Given the description of an element on the screen output the (x, y) to click on. 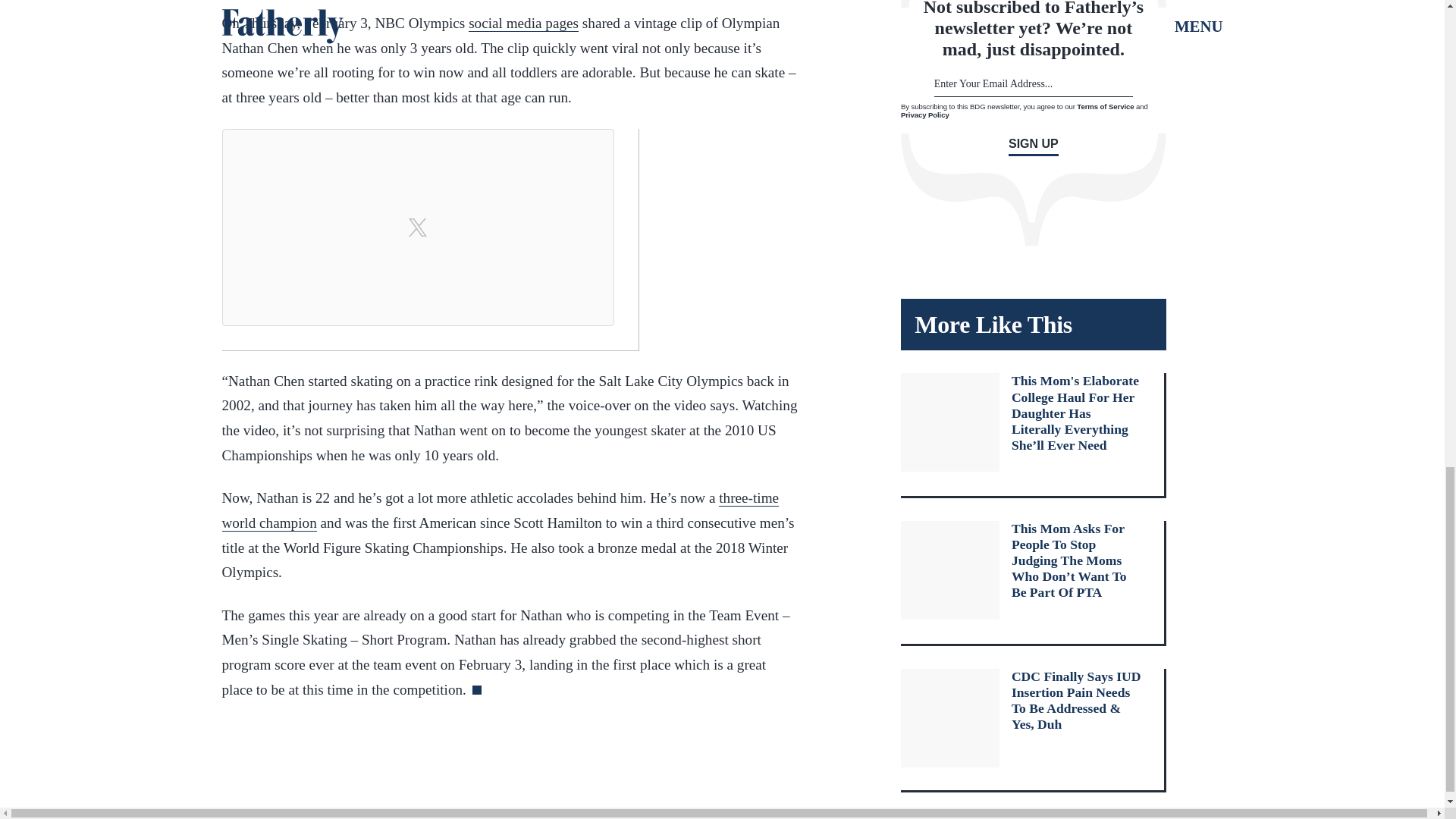
social media pages (523, 23)
three-time world champion (499, 510)
Terms of Service (1105, 106)
SIGN UP (1033, 146)
Privacy Policy (925, 114)
